Given the description of an element on the screen output the (x, y) to click on. 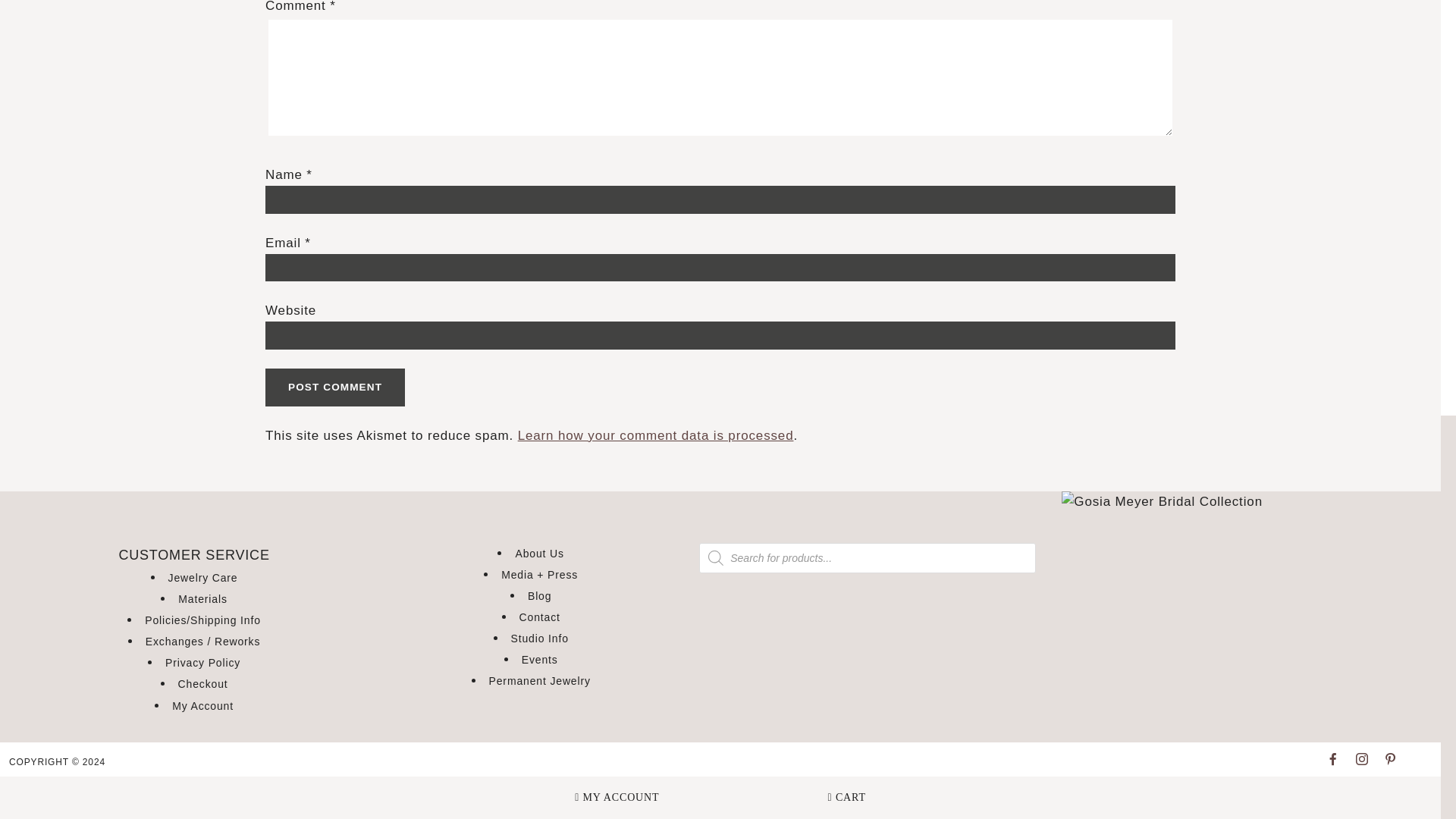
Post Comment (334, 387)
